Given the description of an element on the screen output the (x, y) to click on. 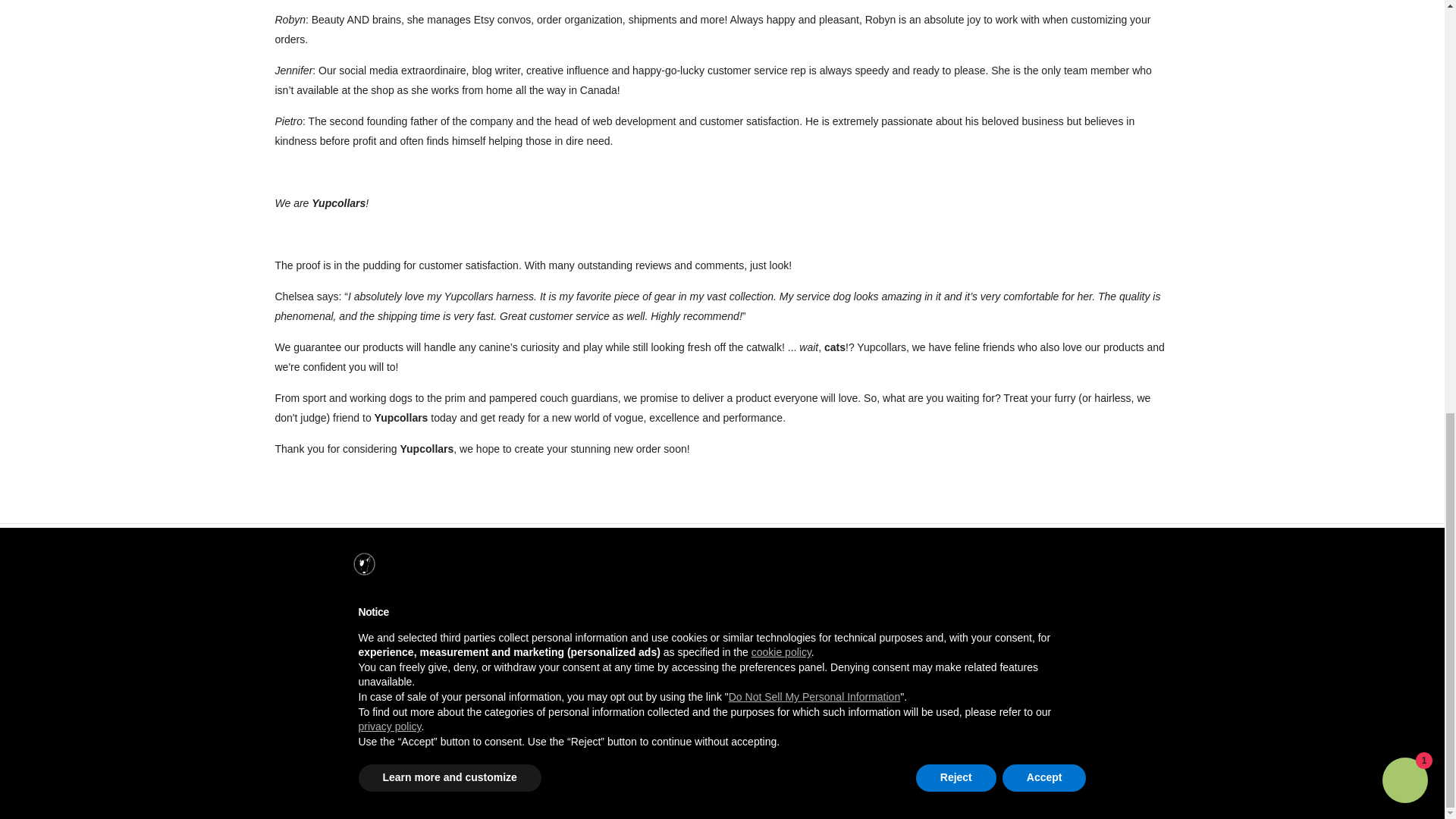
Yupcollars on Facebook (1130, 787)
Visa (440, 670)
Maestro (539, 651)
Mastercard (571, 651)
Google Pay (506, 651)
Union Pay (670, 651)
Yupcollars on Youtube (1168, 787)
Shop Pay (638, 651)
American Express (440, 651)
Apple Pay (473, 651)
Yupcollars on Instagram (1149, 787)
PayPal (605, 651)
